Given the description of an element on the screen output the (x, y) to click on. 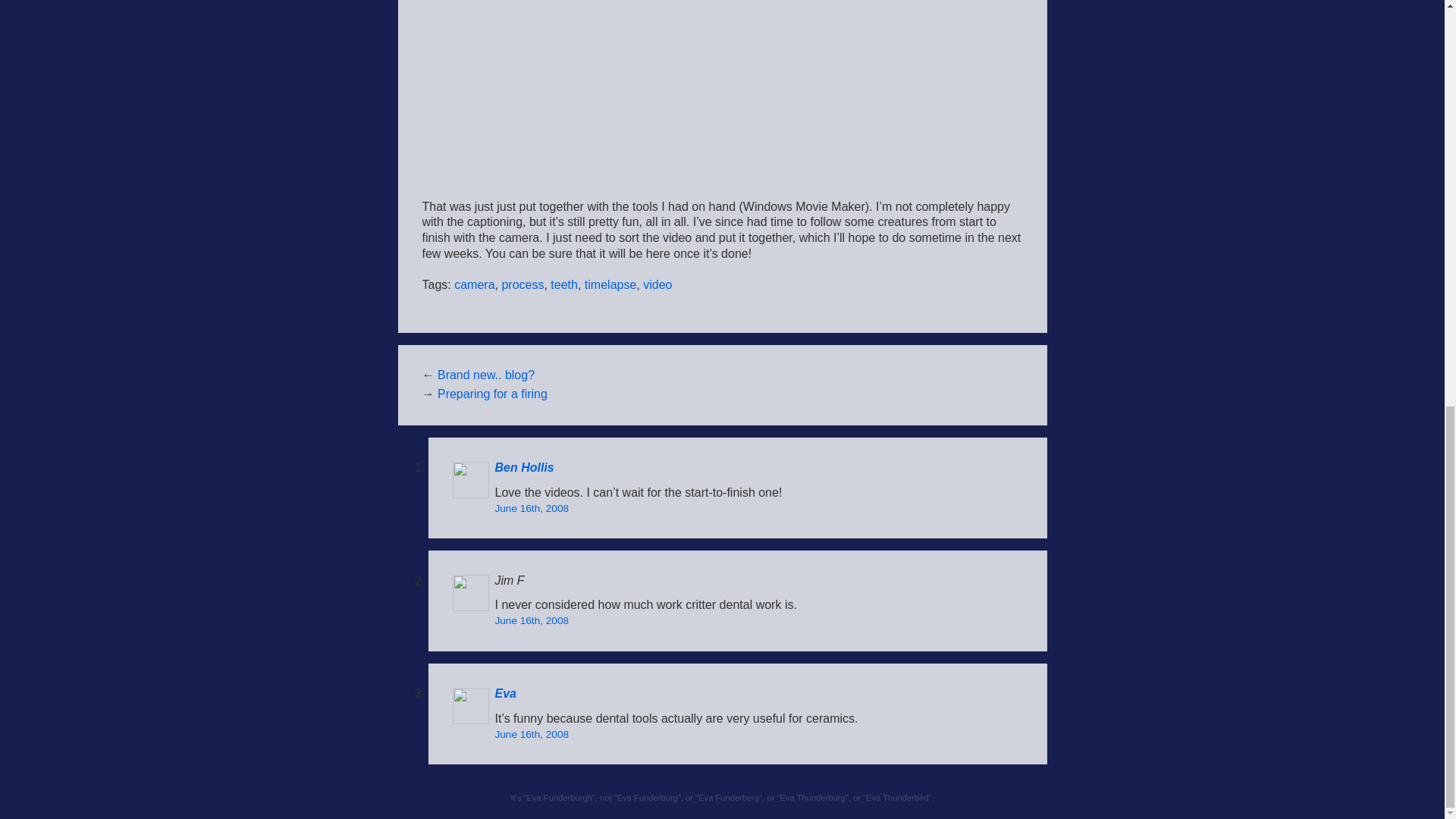
teeth (564, 285)
Eva (505, 694)
Preparing for a firing (492, 394)
June 16th, 2008 (532, 621)
process (521, 285)
Brand new.. blog? (486, 375)
timelapse (610, 285)
June 16th, 2008 (532, 509)
June 16th, 2008 (532, 735)
camera (474, 285)
